Given the description of an element on the screen output the (x, y) to click on. 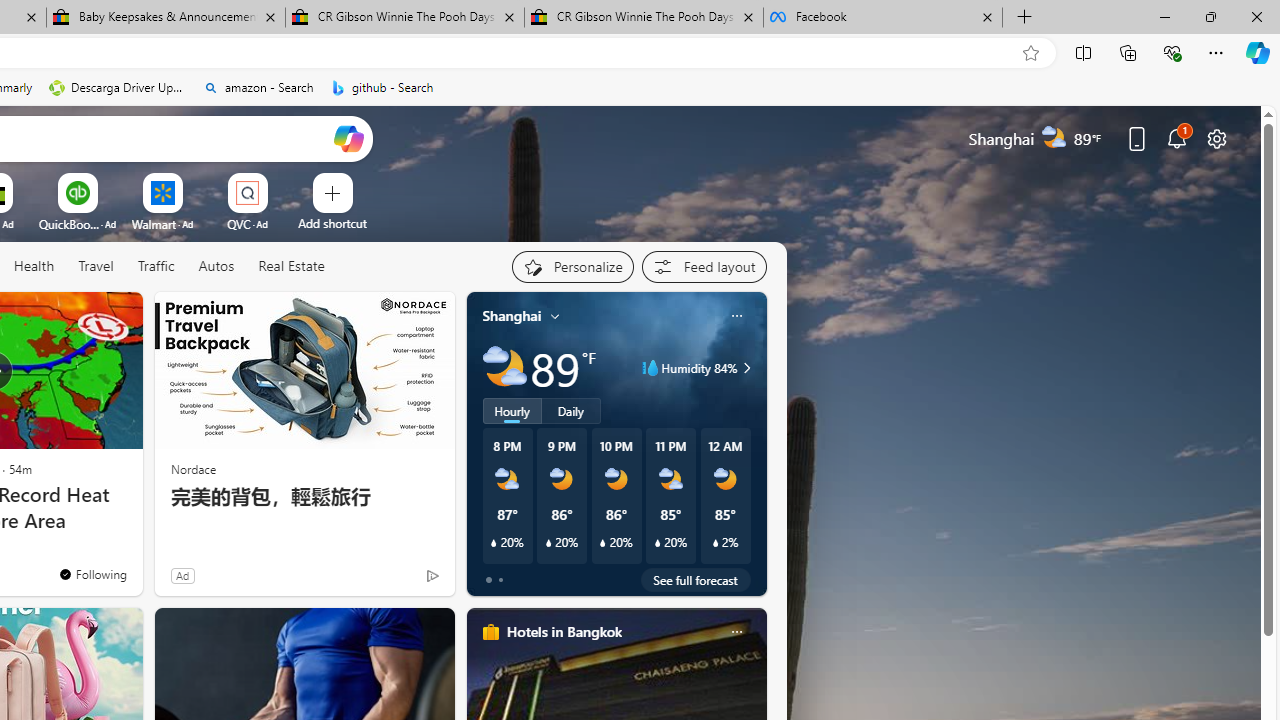
See full forecast (695, 579)
